Given the description of an element on the screen output the (x, y) to click on. 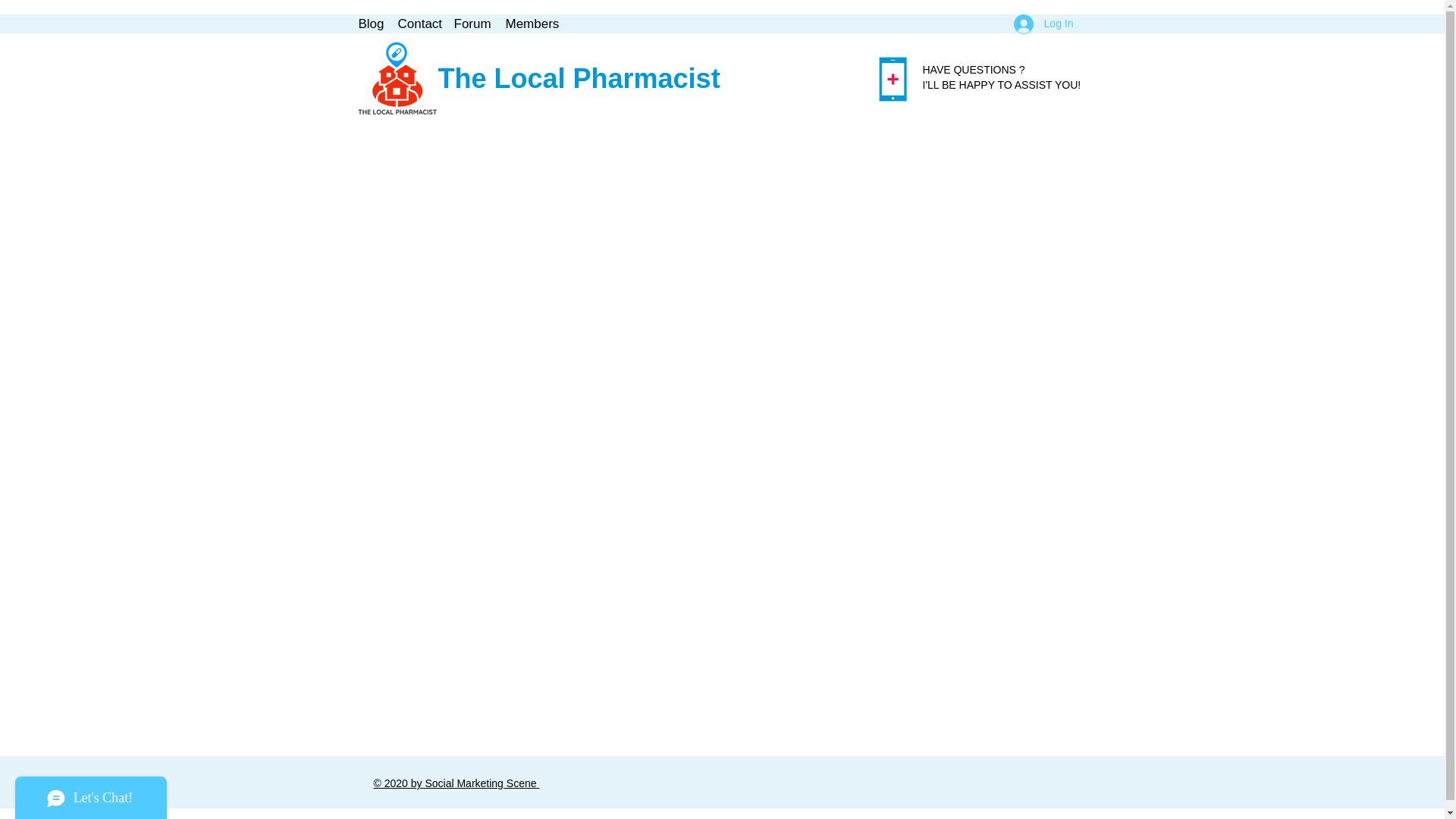
Contact (417, 23)
Forum (471, 23)
Log In (1043, 23)
Members (530, 23)
Blog (370, 23)
The Local Pharmacist (579, 78)
Wix Chat (87, 794)
